Given the description of an element on the screen output the (x, y) to click on. 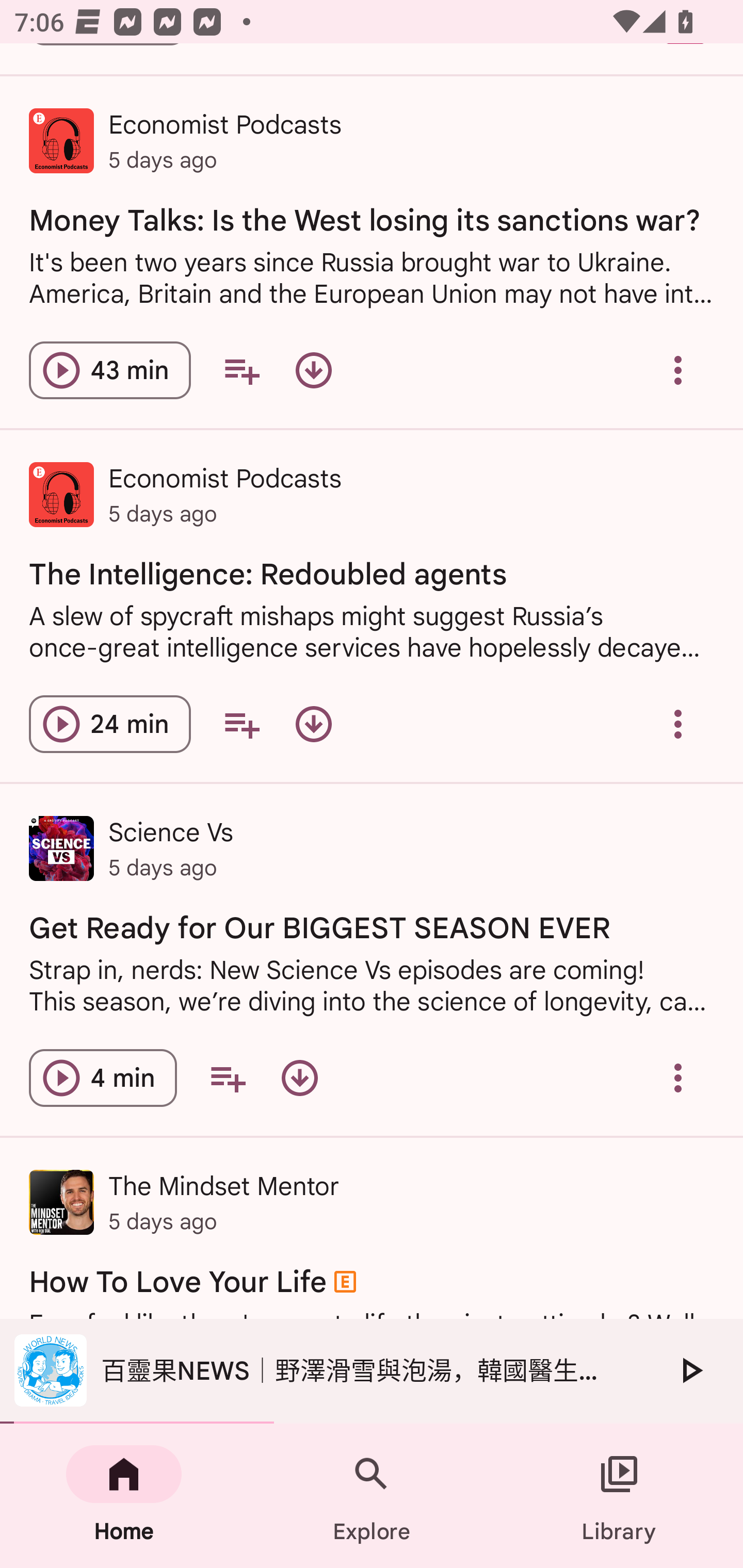
Add to your queue (241, 370)
Download episode (313, 370)
Overflow menu (677, 370)
Add to your queue (241, 723)
Download episode (313, 723)
Overflow menu (677, 723)
Add to your queue (227, 1077)
Download episode (299, 1077)
Overflow menu (677, 1077)
Play (690, 1370)
Explore (371, 1495)
Library (619, 1495)
